Given the description of an element on the screen output the (x, y) to click on. 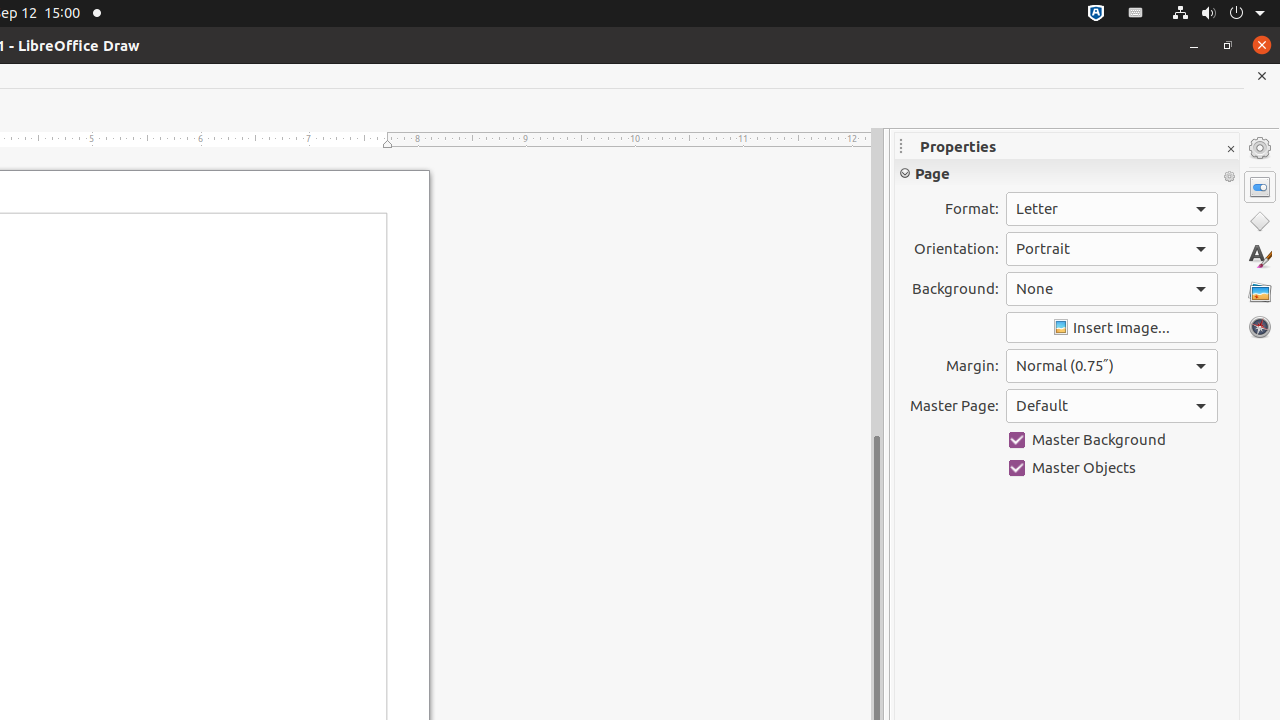
Format: Element type: combo-box (1112, 209)
Close Sidebar Deck Element type: push-button (1230, 149)
Master Background Element type: check-box (1112, 440)
Margin: Element type: combo-box (1112, 366)
:1.21/StatusNotifierItem Element type: menu (1136, 13)
